Given the description of an element on the screen output the (x, y) to click on. 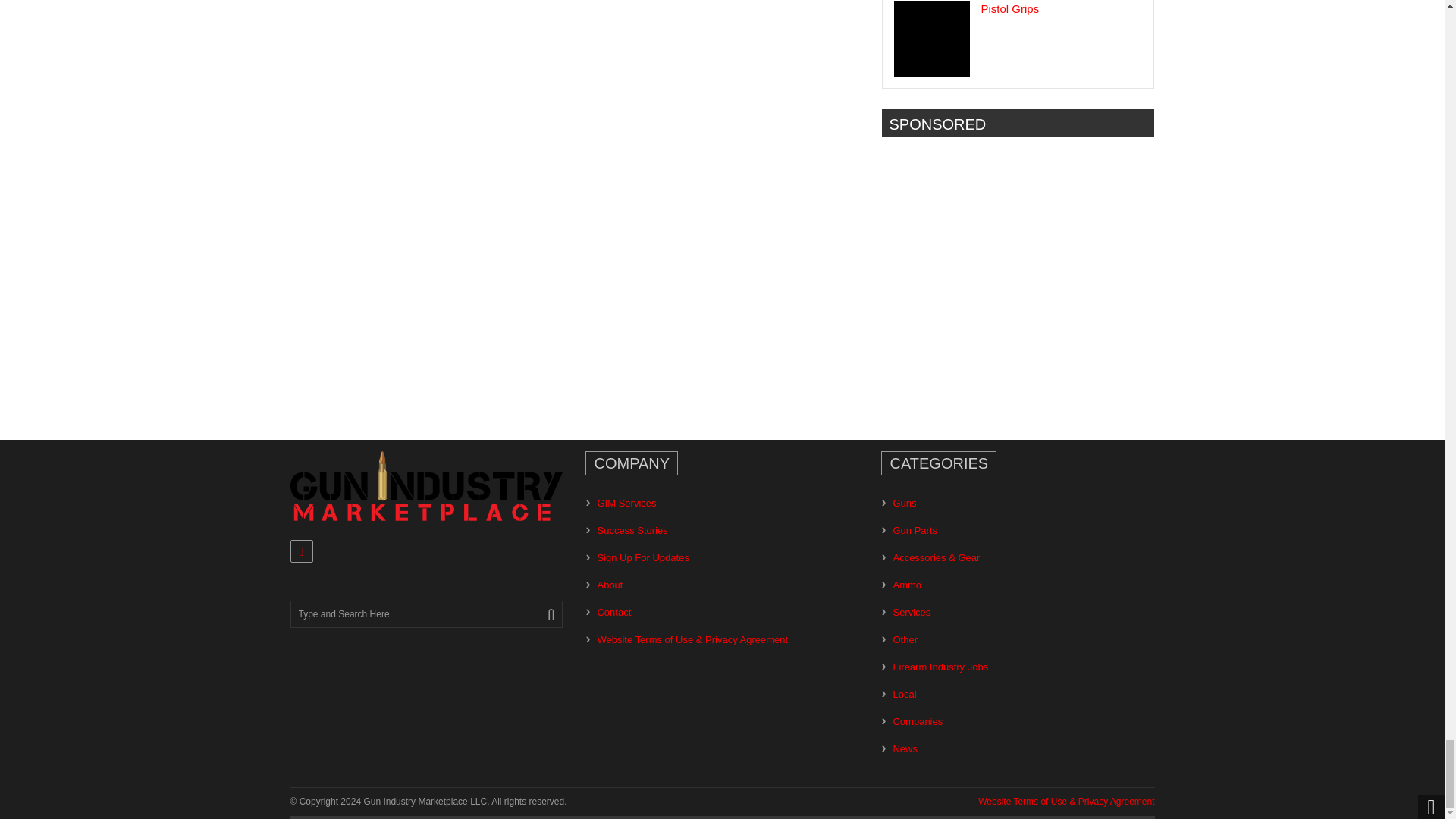
Type and Search Here (425, 614)
